Given the description of an element on the screen output the (x, y) to click on. 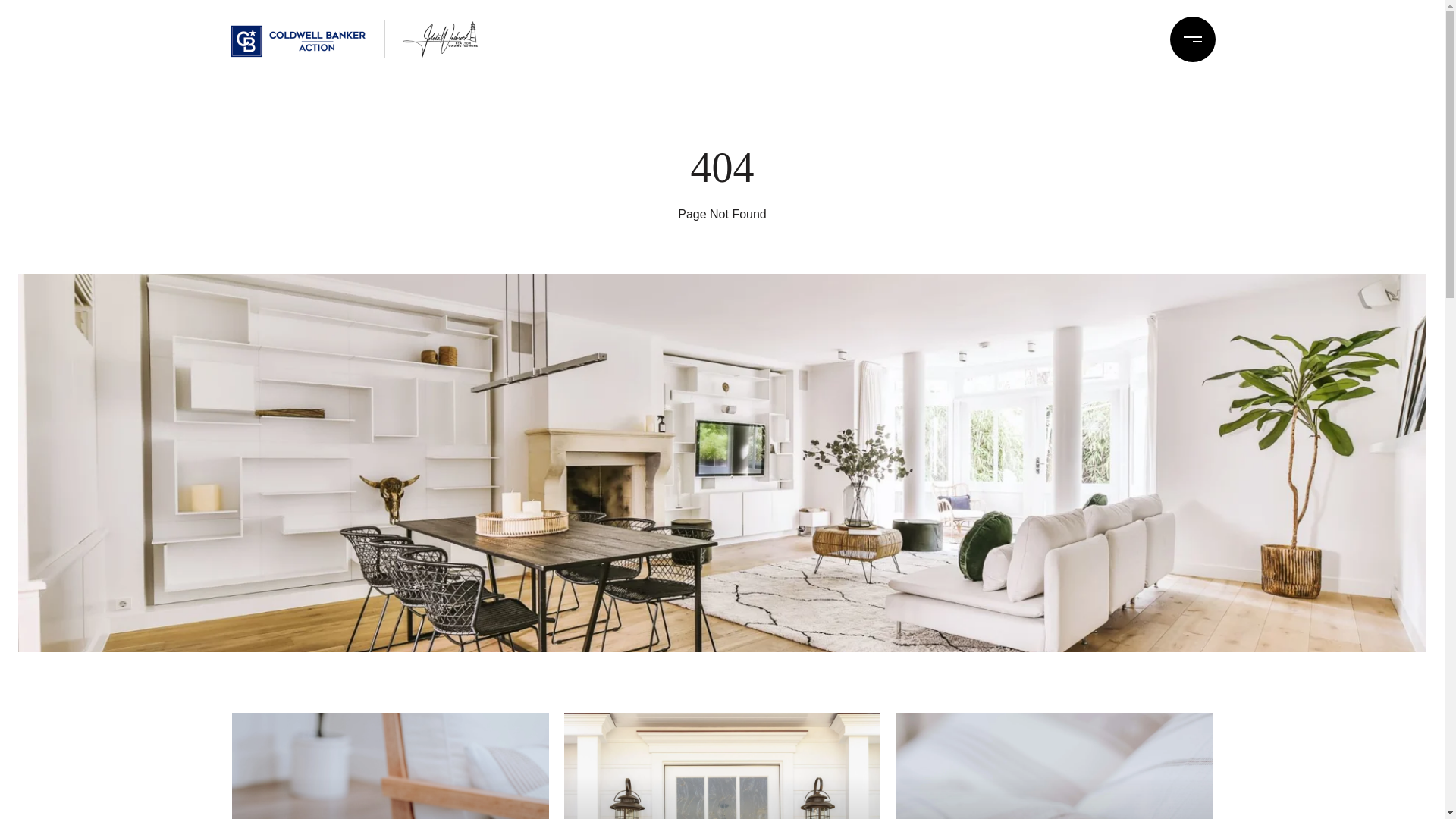
HOME VALUATION (1053, 765)
HOME SEARCH (389, 765)
FEATURED PROPERTIES (722, 765)
